Given the description of an element on the screen output the (x, y) to click on. 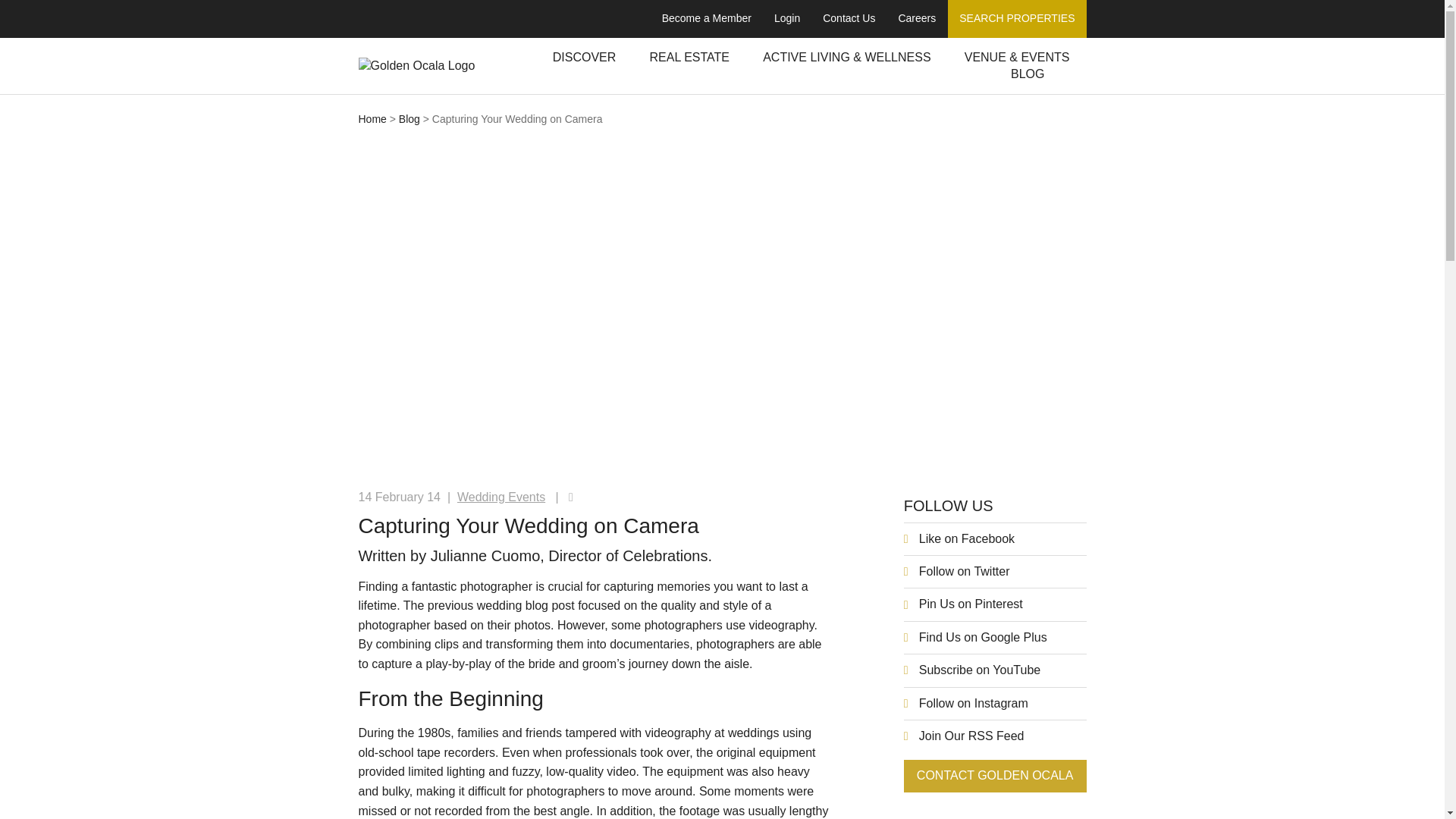
DISCOVER (584, 57)
Wedding Events (500, 496)
REAL ESTATE (689, 57)
SEARCH PROPERTIES (1016, 18)
Careers (916, 18)
Login (786, 18)
Contact Us (848, 18)
Become a Member (706, 18)
